Given the description of an element on the screen output the (x, y) to click on. 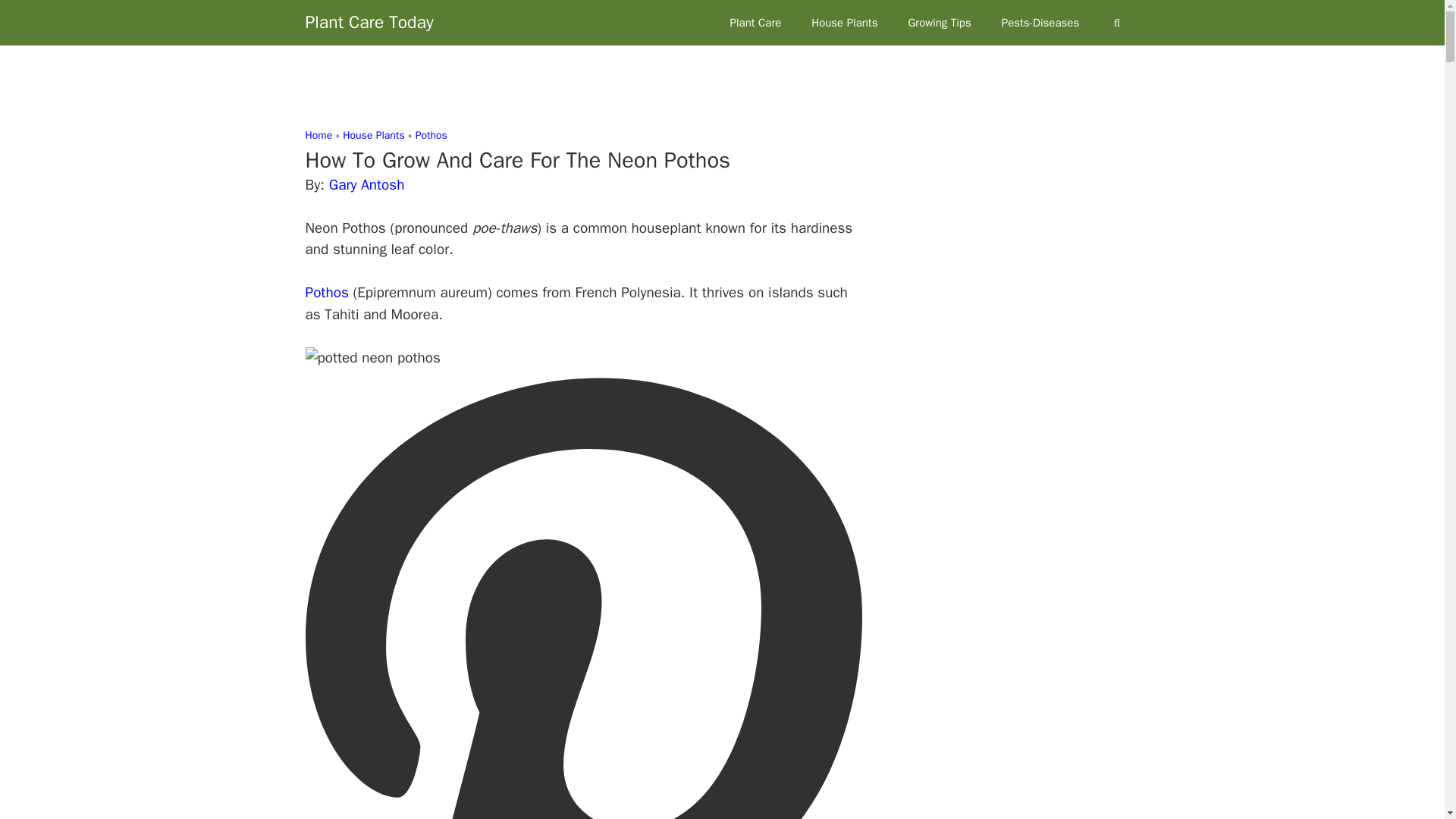
Gary Antosh (366, 185)
Pothos (325, 292)
House Plants (373, 134)
Plant Care (755, 22)
Home (317, 134)
Pests-Diseases (1040, 22)
Growing Tips (938, 22)
Pothos (430, 134)
House Plants (844, 22)
Plant Care Today (368, 22)
